Given the description of an element on the screen output the (x, y) to click on. 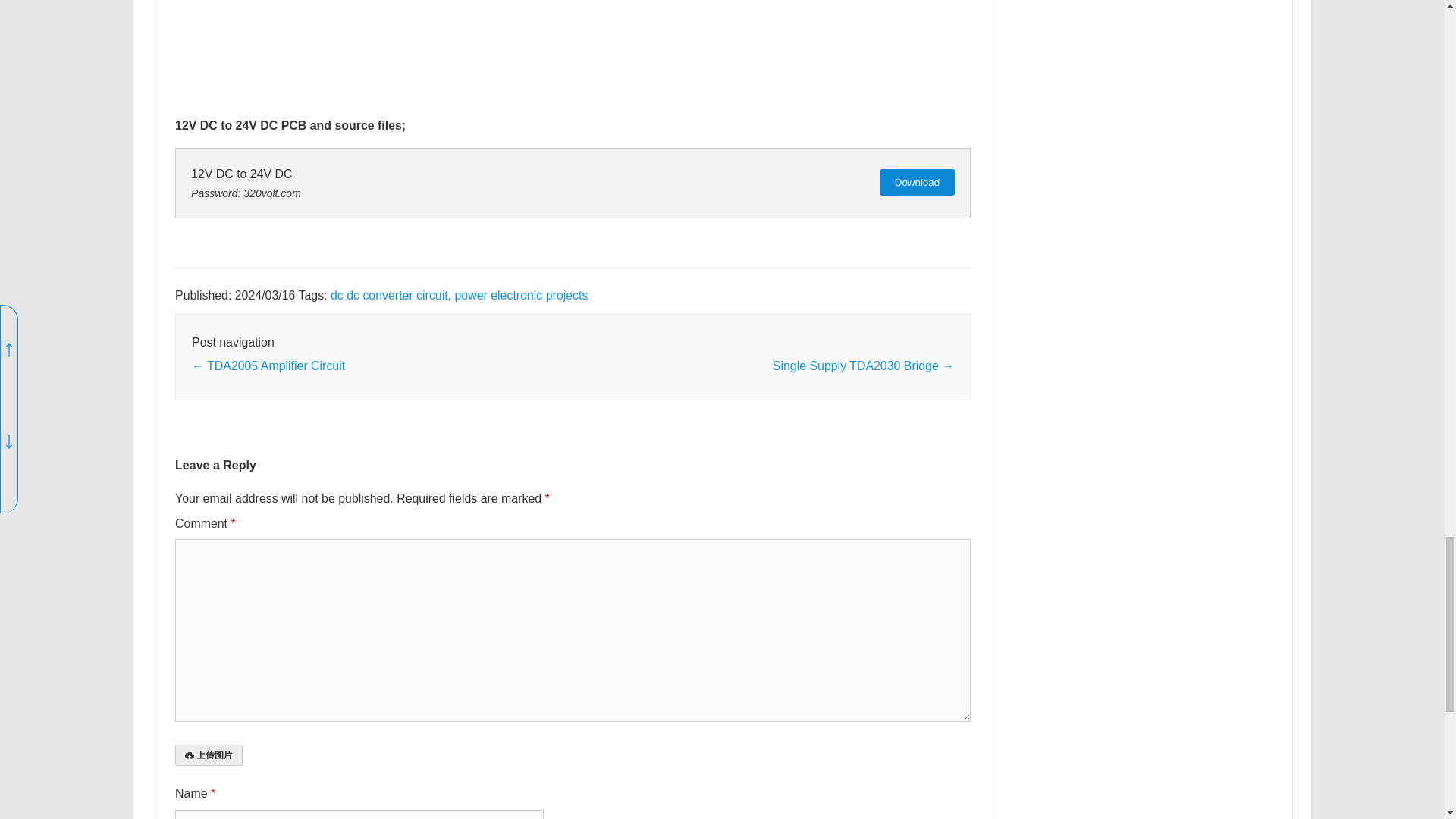
dc dc converter circuit (389, 295)
Download (917, 182)
power electronic projects (521, 295)
Download (917, 181)
